Given the description of an element on the screen output the (x, y) to click on. 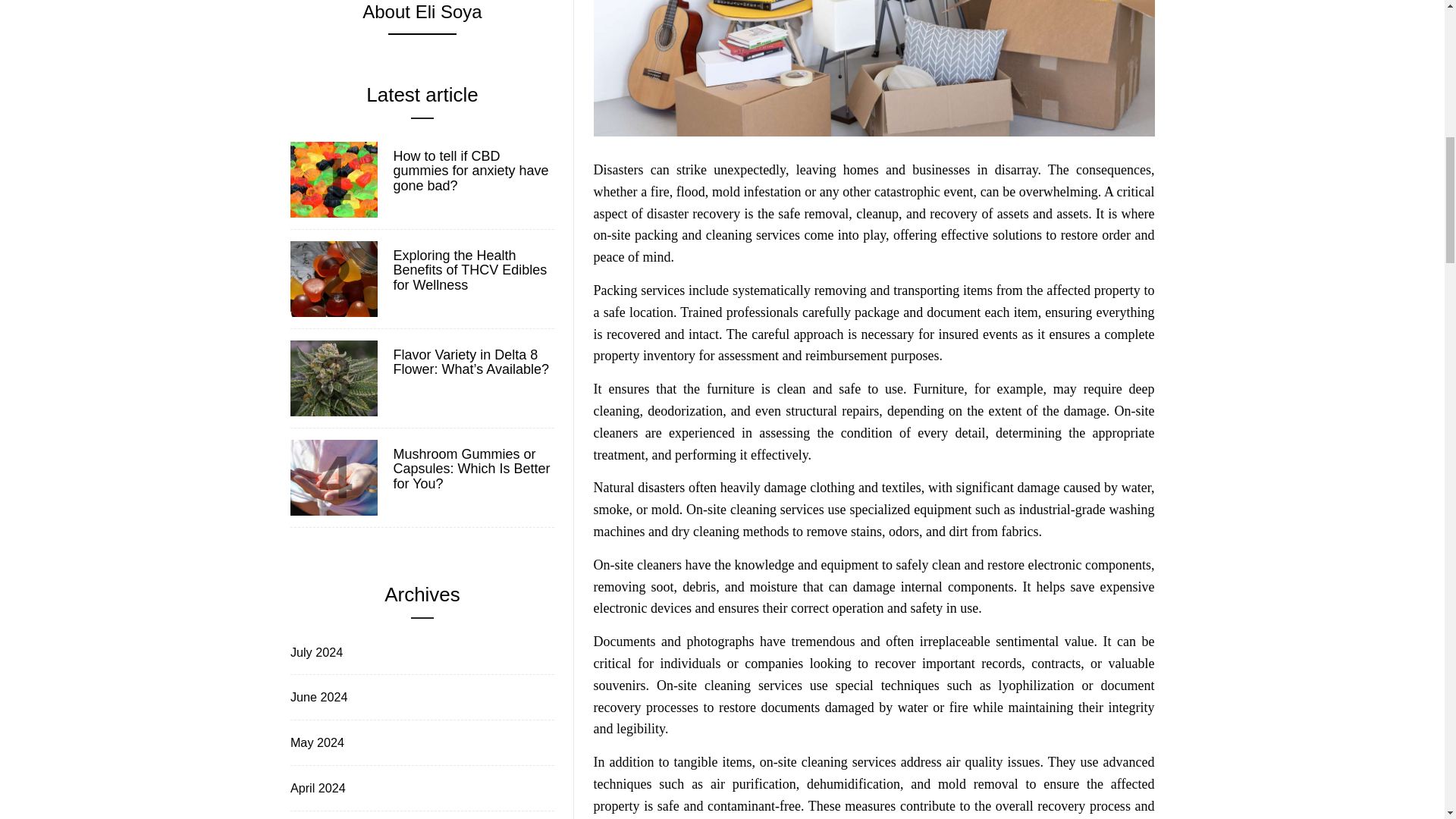
April 2024 (316, 788)
July 2024 (314, 652)
How to tell if CBD gummies for anxiety have gone bad? (471, 171)
Mushroom Gummies or Capsules: Which Is Better for You? (471, 469)
May 2024 (314, 742)
June 2024 (316, 697)
Exploring the Health Benefits of THCV Edibles for Wellness (471, 270)
